Given the description of an element on the screen output the (x, y) to click on. 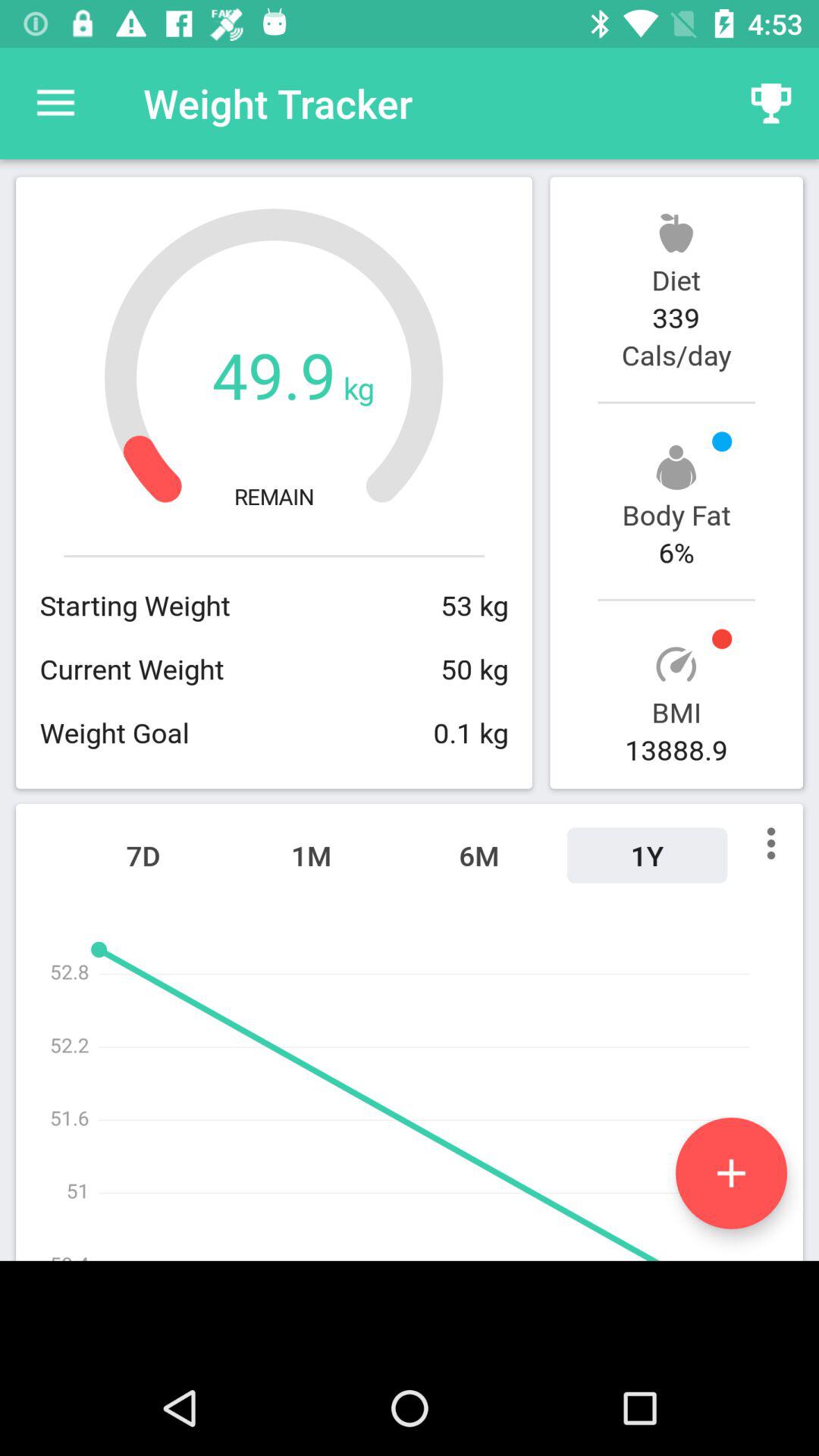
expands graph (731, 1173)
